Given the description of an element on the screen output the (x, y) to click on. 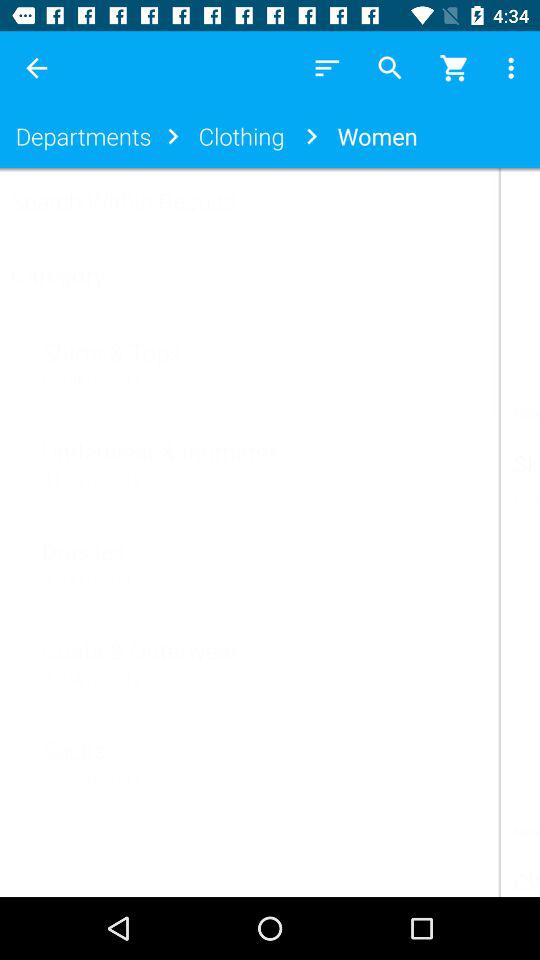
click on more options icon (514, 68)
